Given the description of an element on the screen output the (x, y) to click on. 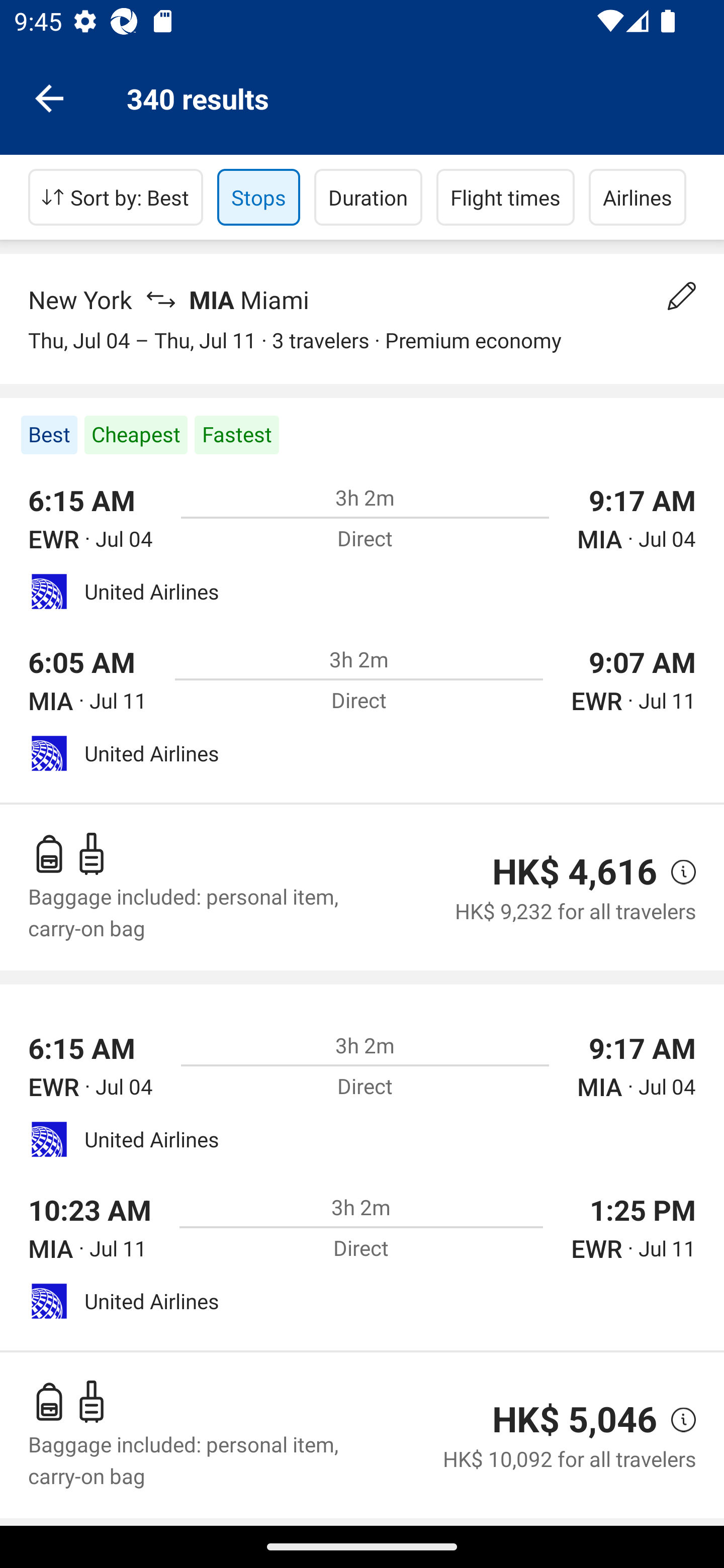
Navigate up (49, 97)
Sort by: Best (115, 197)
Stops (258, 197)
Duration (368, 197)
Flight times (505, 197)
Airlines (637, 197)
Change your search details (681, 296)
HK$ 4,616 (574, 871)
view price details, opens a pop-up (676, 872)
HK$ 5,046 (574, 1419)
view price details, opens a pop-up (676, 1419)
